Given the description of an element on the screen output the (x, y) to click on. 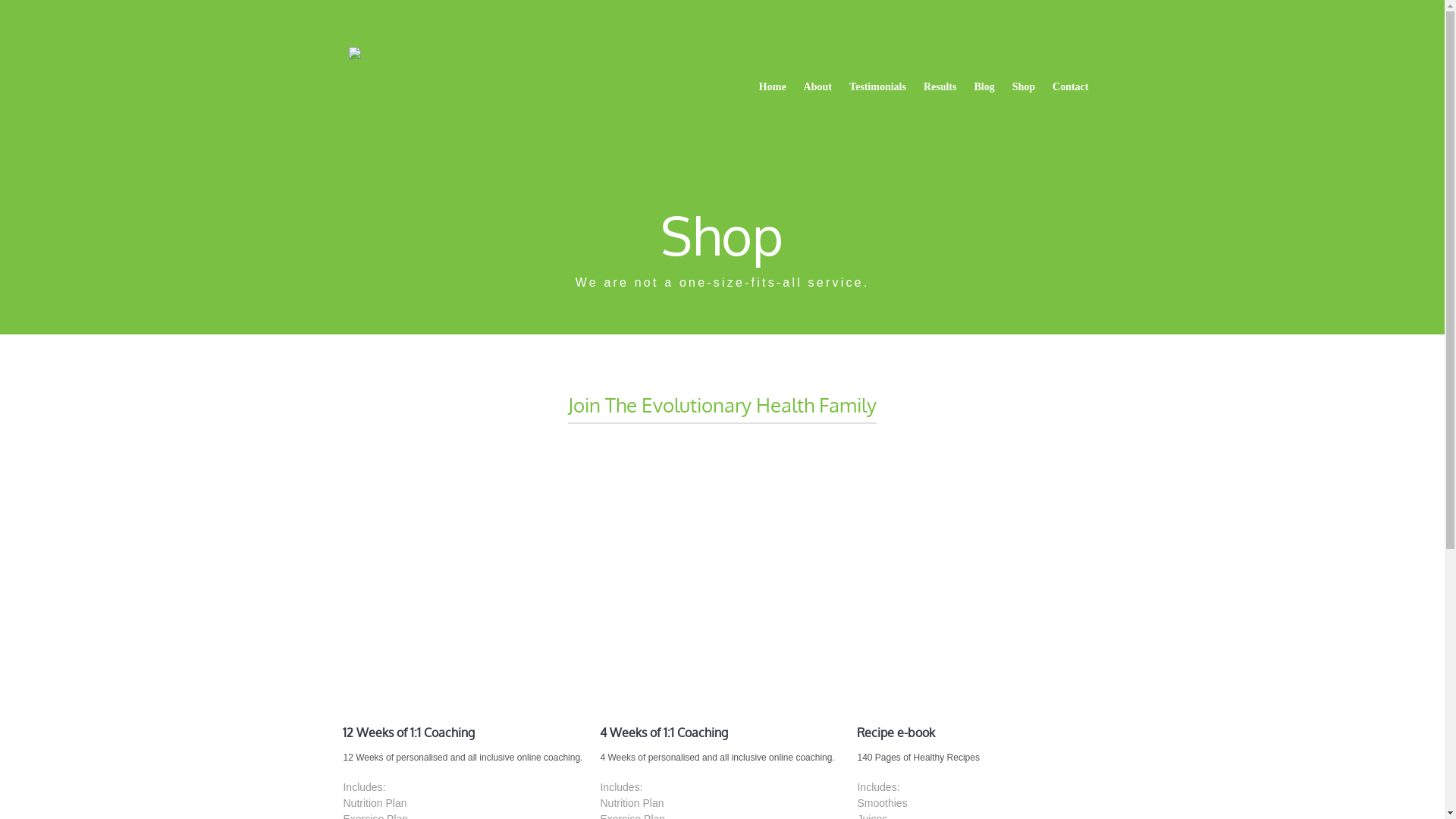
Shop Element type: text (1023, 86)
Results Element type: text (940, 86)
About Element type: text (817, 86)
Contact Element type: text (1069, 86)
Testimonials Element type: text (877, 86)
Blog Element type: text (983, 86)
